Given the description of an element on the screen output the (x, y) to click on. 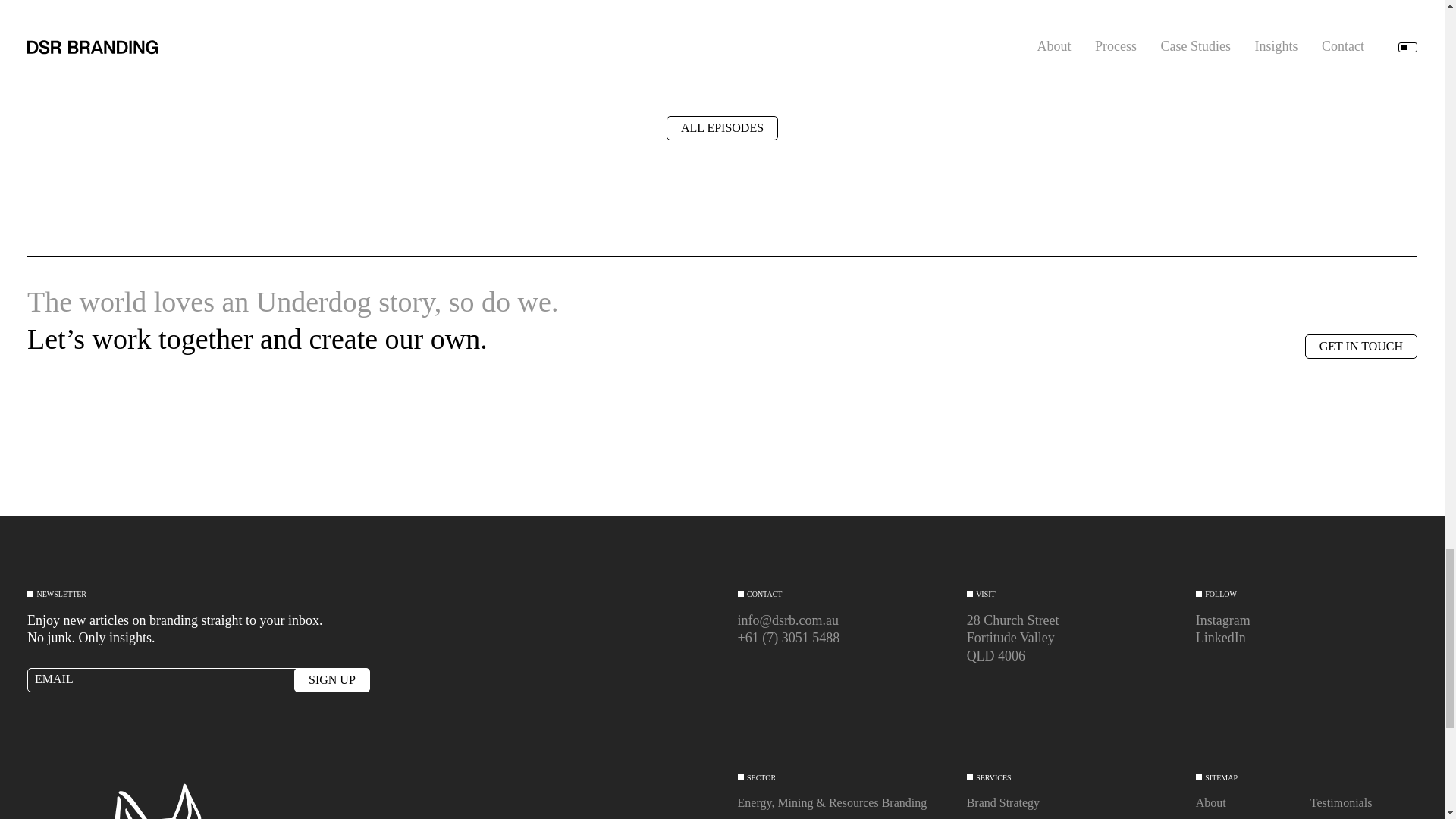
ALL EPISODES (721, 128)
GET IN TOUCH (1360, 346)
Brand Strategy (1002, 802)
Sign Up (331, 680)
LinkedIn (1220, 637)
Sign Up (331, 680)
Instagram (1222, 620)
